Given the description of an element on the screen output the (x, y) to click on. 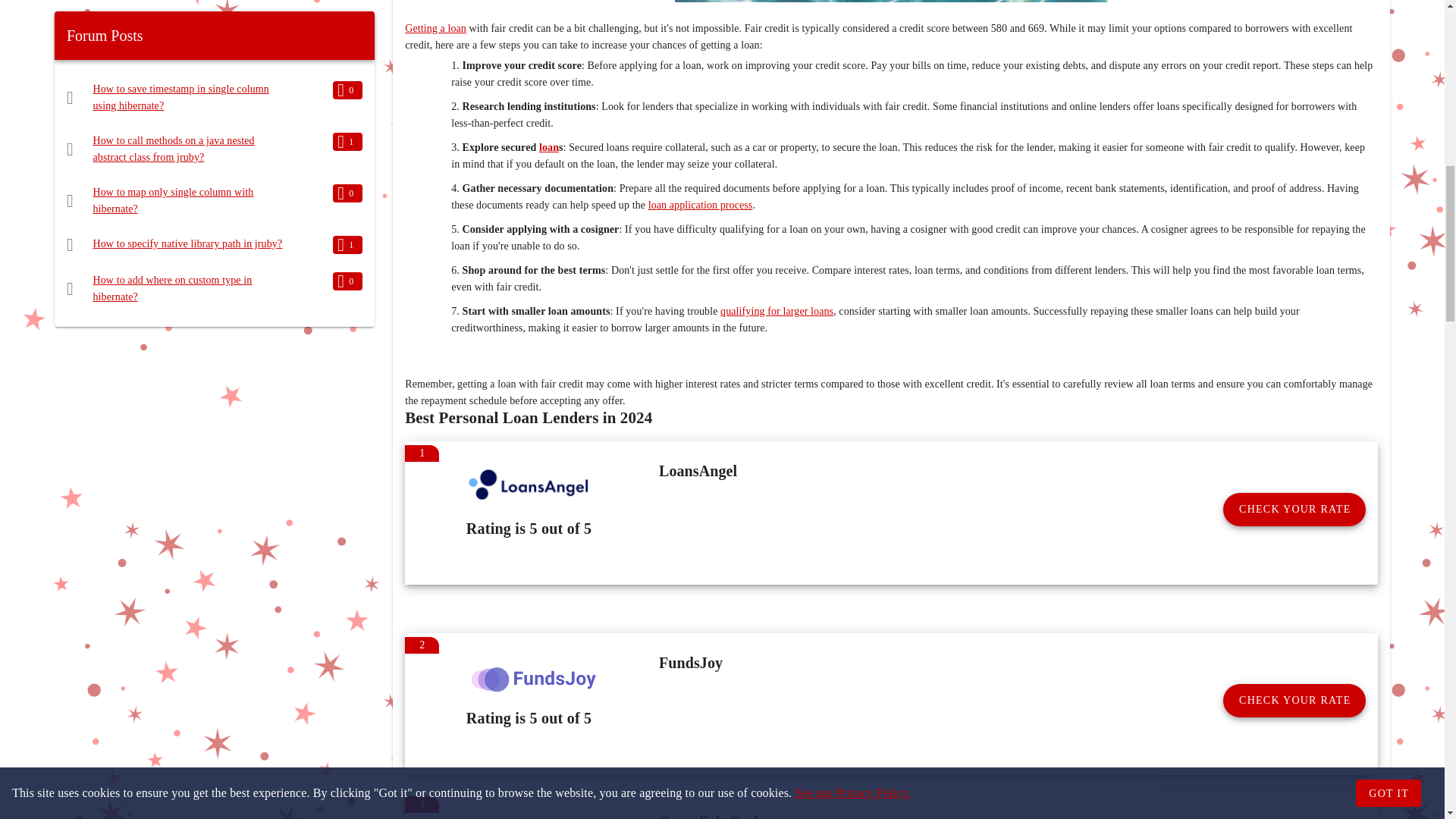
How to save timestamp in single column using hibernate? (181, 97)
loan application process (699, 204)
How to map only single column with hibernate? (173, 200)
How to specify native library path in jruby? (187, 243)
qualifying for larger loans (776, 310)
CHECK YOUR RATE (1294, 509)
Getting a loan (434, 28)
How to add where on custom type in hibernate? (172, 288)
loan (548, 147)
How to specify native library path in jruby? (187, 243)
How to add where on custom type in hibernate? (172, 288)
How to map only single column with hibernate? (173, 200)
How to save timestamp in single column using hibernate? (181, 97)
